Given the description of an element on the screen output the (x, y) to click on. 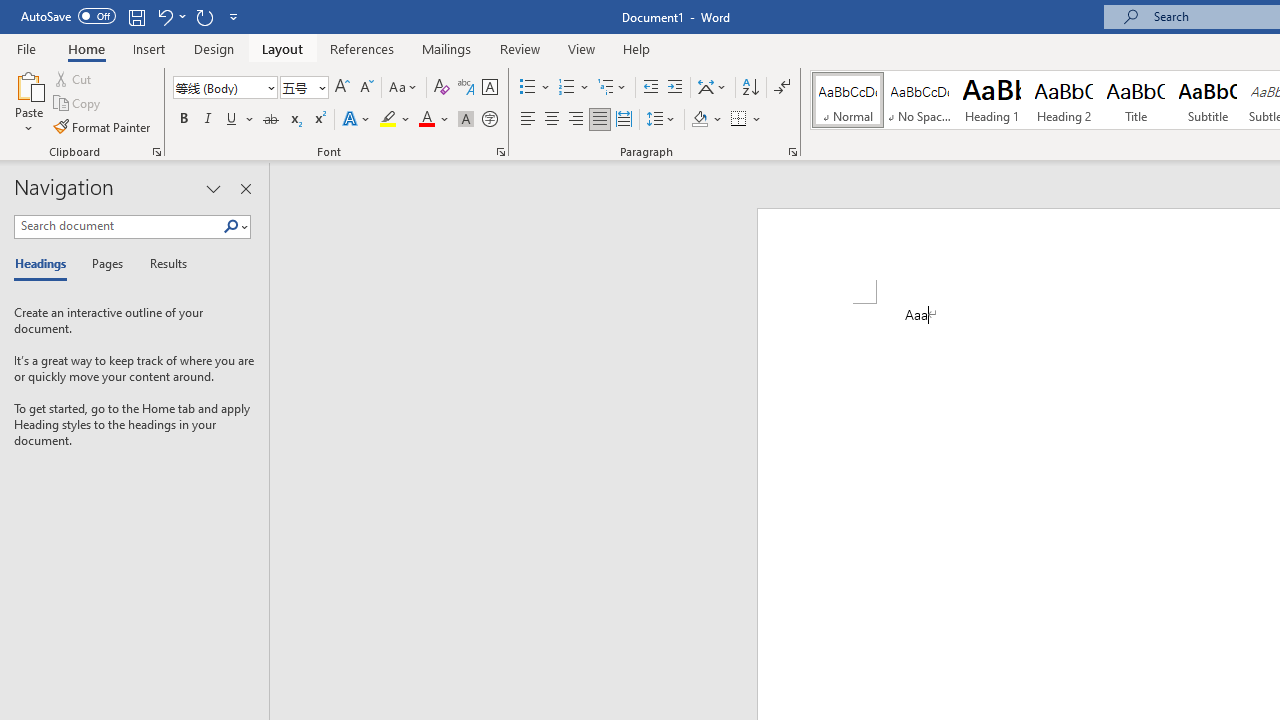
Paragraph... (792, 151)
Strikethrough (270, 119)
Line and Paragraph Spacing (661, 119)
Search document (118, 226)
Change Case (404, 87)
Repeat Increase Indent (204, 15)
Heading 2 (1063, 100)
Undo Increase Indent (164, 15)
Headings (45, 264)
